Given the description of an element on the screen output the (x, y) to click on. 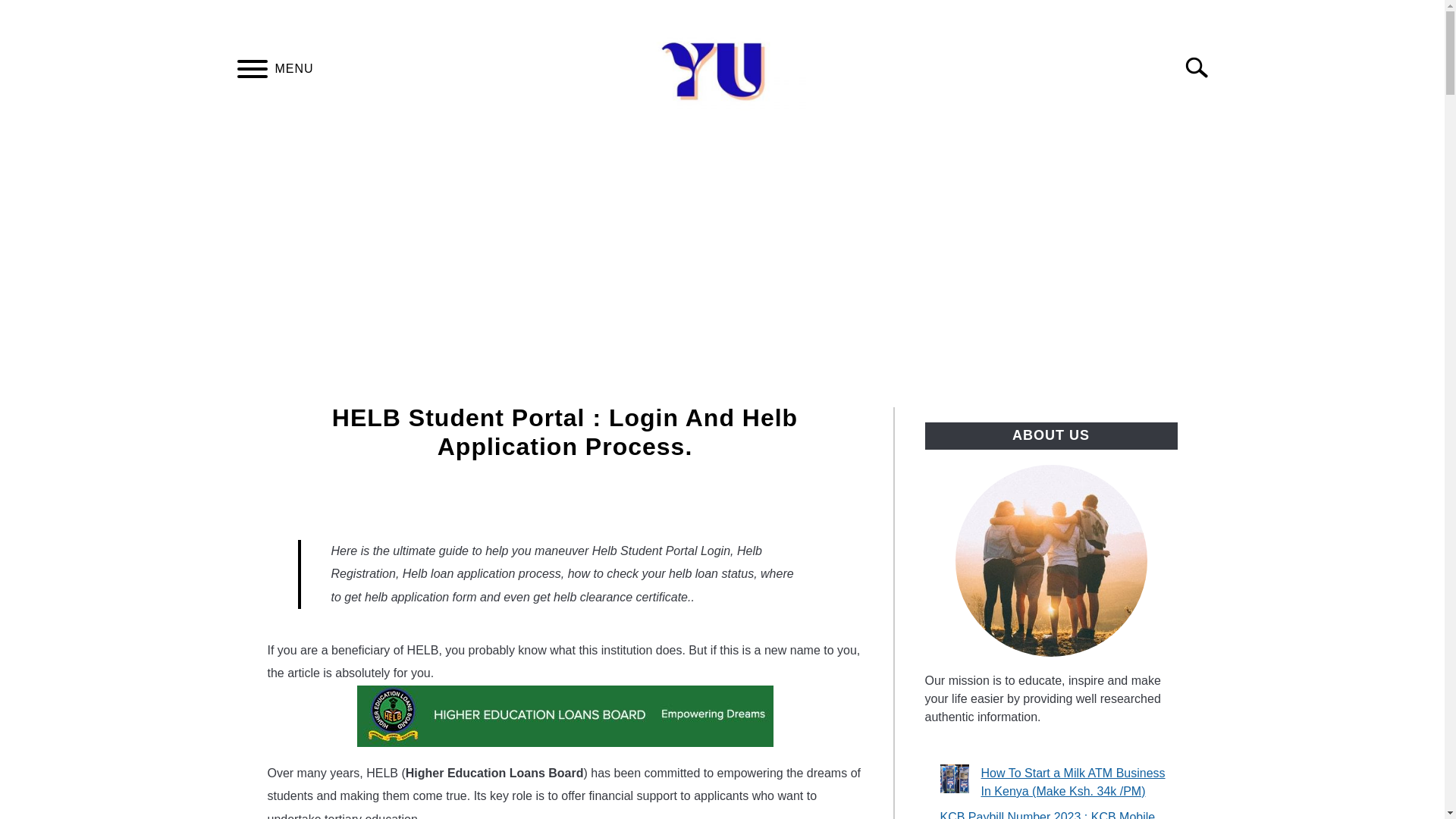
MENU (251, 70)
Search (1203, 67)
KCB Paybill Number 2023 : KCB Mobile Banking Explained (1048, 814)
